Given the description of an element on the screen output the (x, y) to click on. 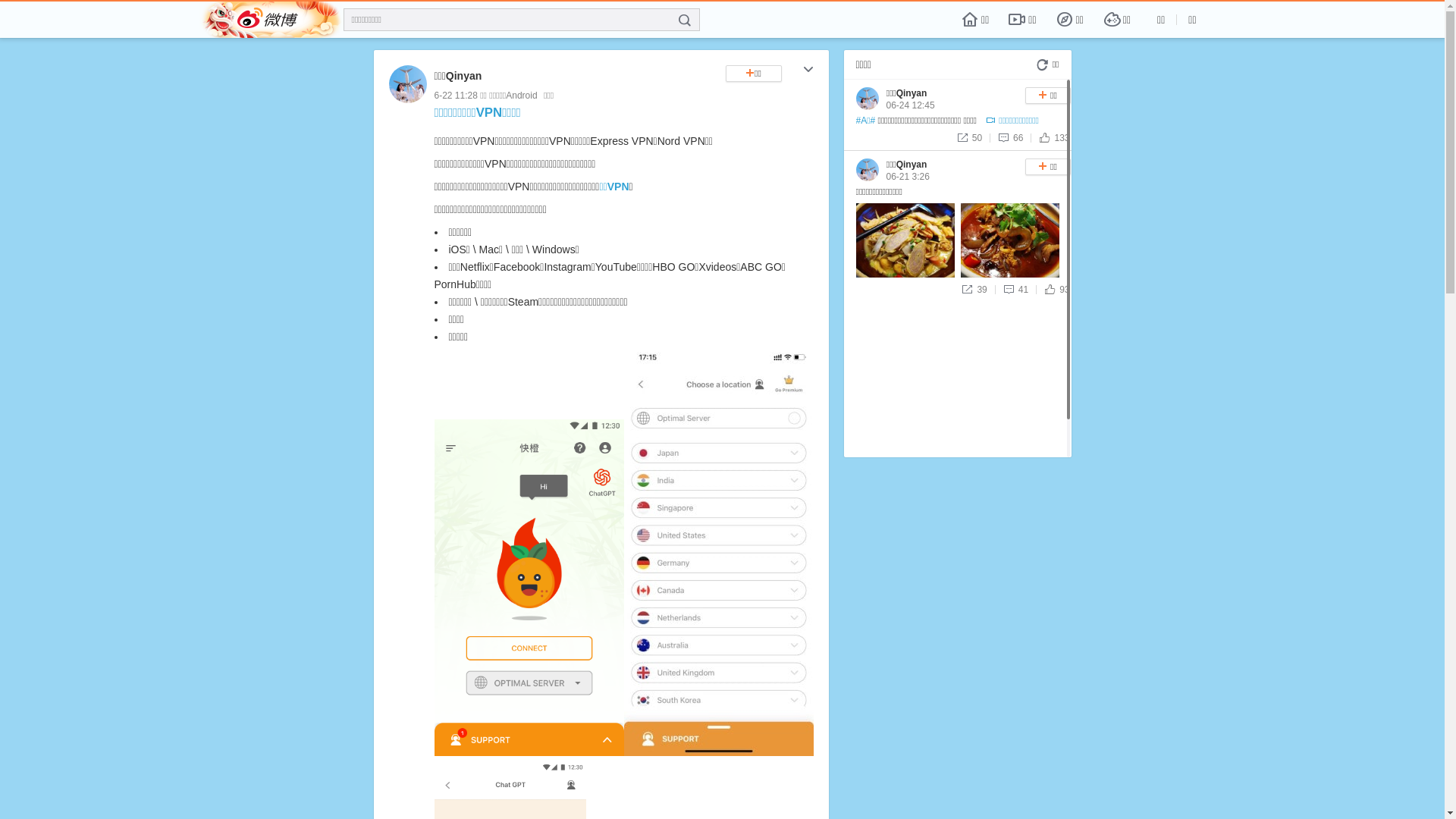
c Element type: text (808, 70)
6-22 11:28 Element type: text (454, 95)
06-21 3:26 Element type: text (906, 176)
06-24 12:45 Element type: text (909, 105)
f Element type: text (684, 20)
